Given the description of an element on the screen output the (x, y) to click on. 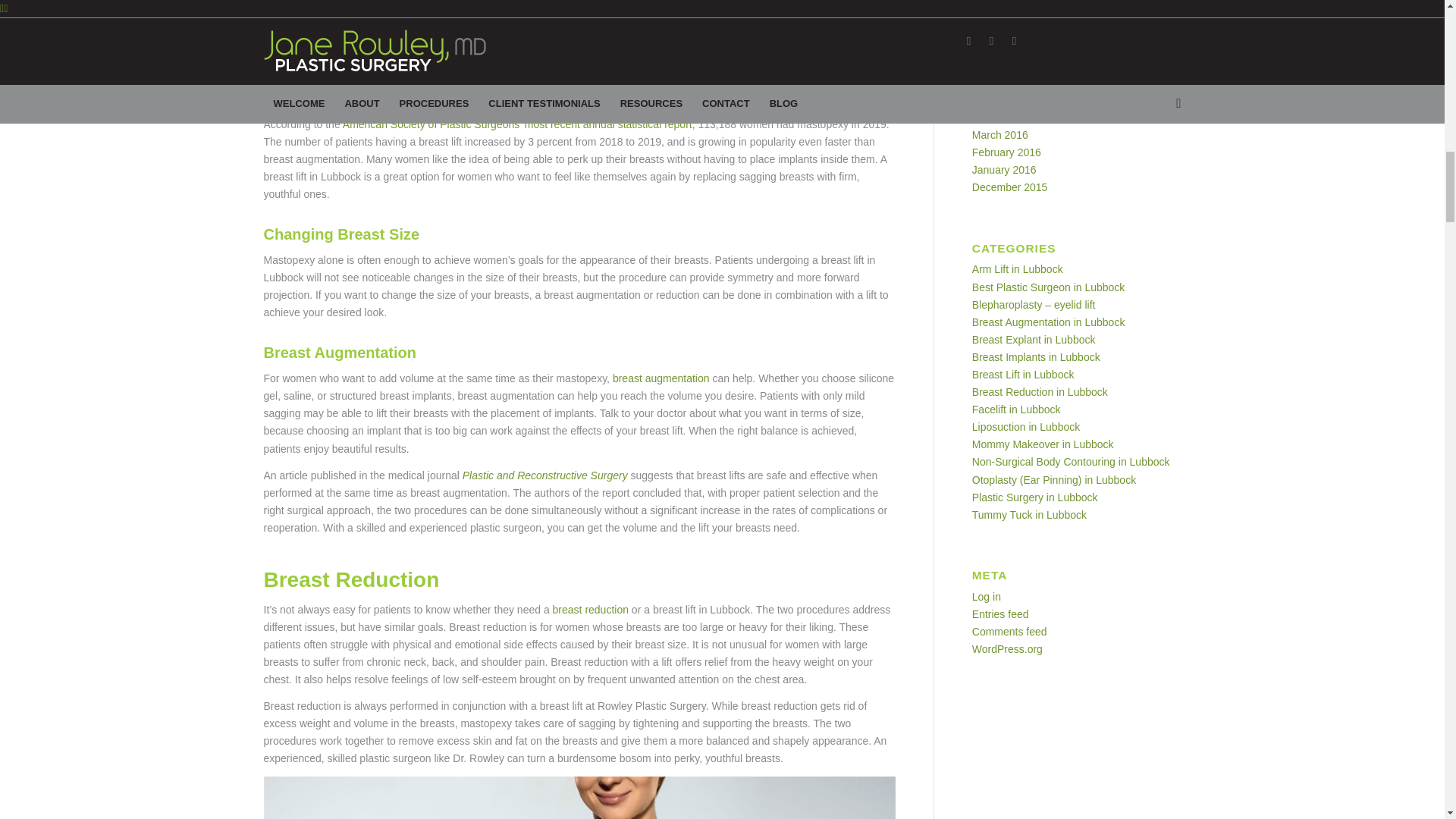
Is a Lubbock Breast Lift Right For You? (579, 31)
breast augmentation (661, 378)
breast reduction (590, 609)
Plastic and Reconstructive Surgery (545, 474)
